Given the description of an element on the screen output the (x, y) to click on. 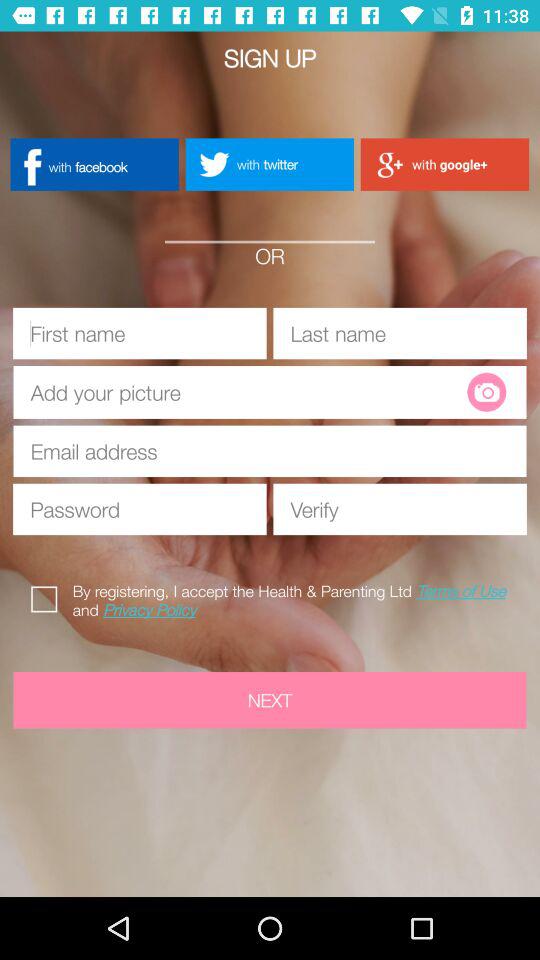
toggle terms checkbox (48, 596)
